Given the description of an element on the screen output the (x, y) to click on. 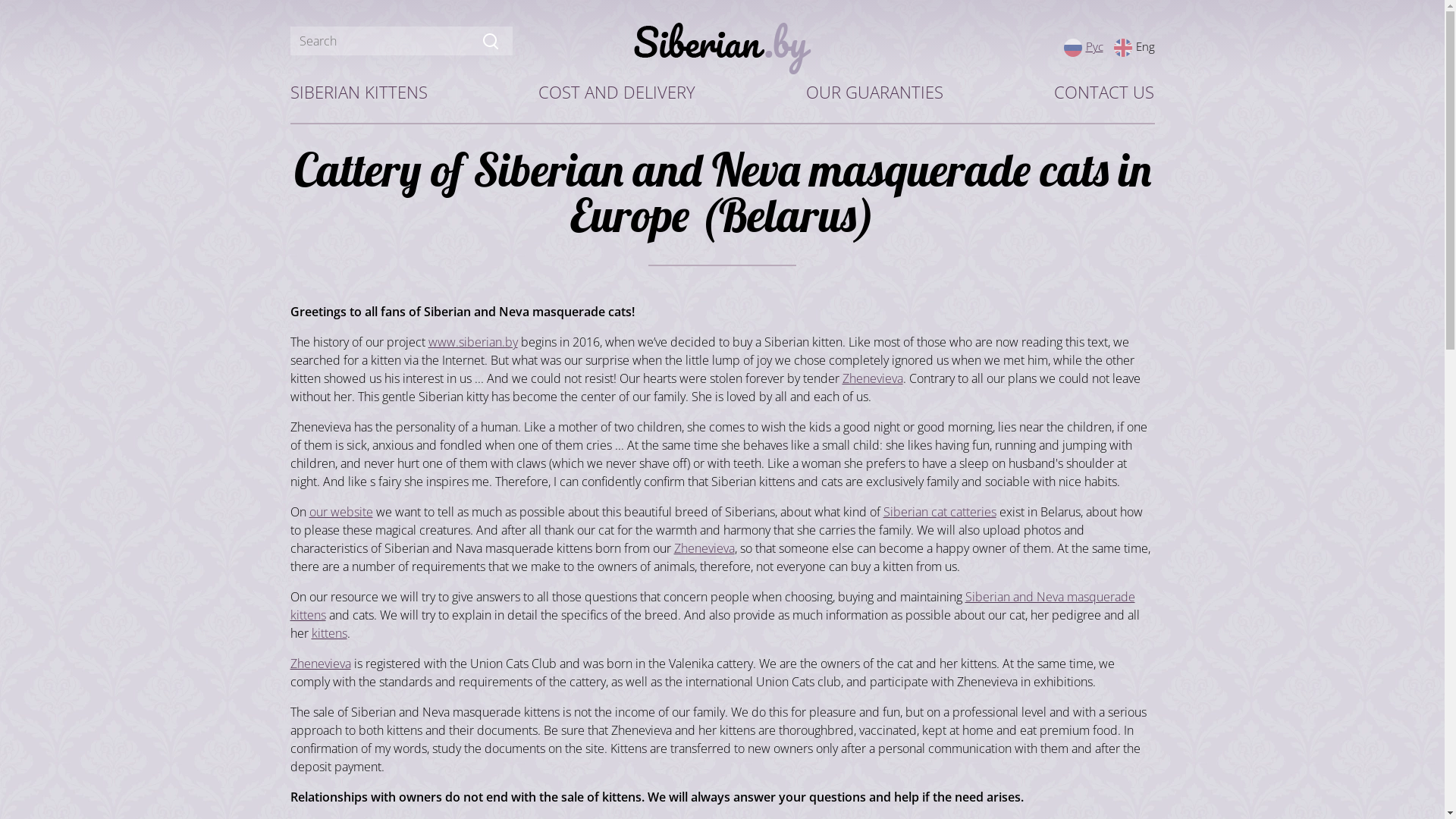
our website Element type: text (341, 511)
kittens Element type: text (328, 632)
CONTACT US Element type: text (1104, 92)
OUR GUARANTIES Element type: text (874, 92)
Siberian.by Element type: text (722, 48)
Siberian and Neva masquerade kittens Element type: text (711, 605)
Siberian cat catteries Element type: text (938, 511)
Enter the terms you wish to search for. Element type: hover (400, 40)
SIBERIAN KITTENS Element type: text (357, 92)
Search Element type: text (489, 40)
Zhenevieva Element type: text (871, 378)
Zhenevieva Element type: text (319, 663)
www.siberian.by Element type: text (472, 341)
Zhenevieva Element type: text (703, 547)
Eng Element type: text (1133, 45)
COST AND DELIVERY Element type: text (616, 92)
